Given the description of an element on the screen output the (x, y) to click on. 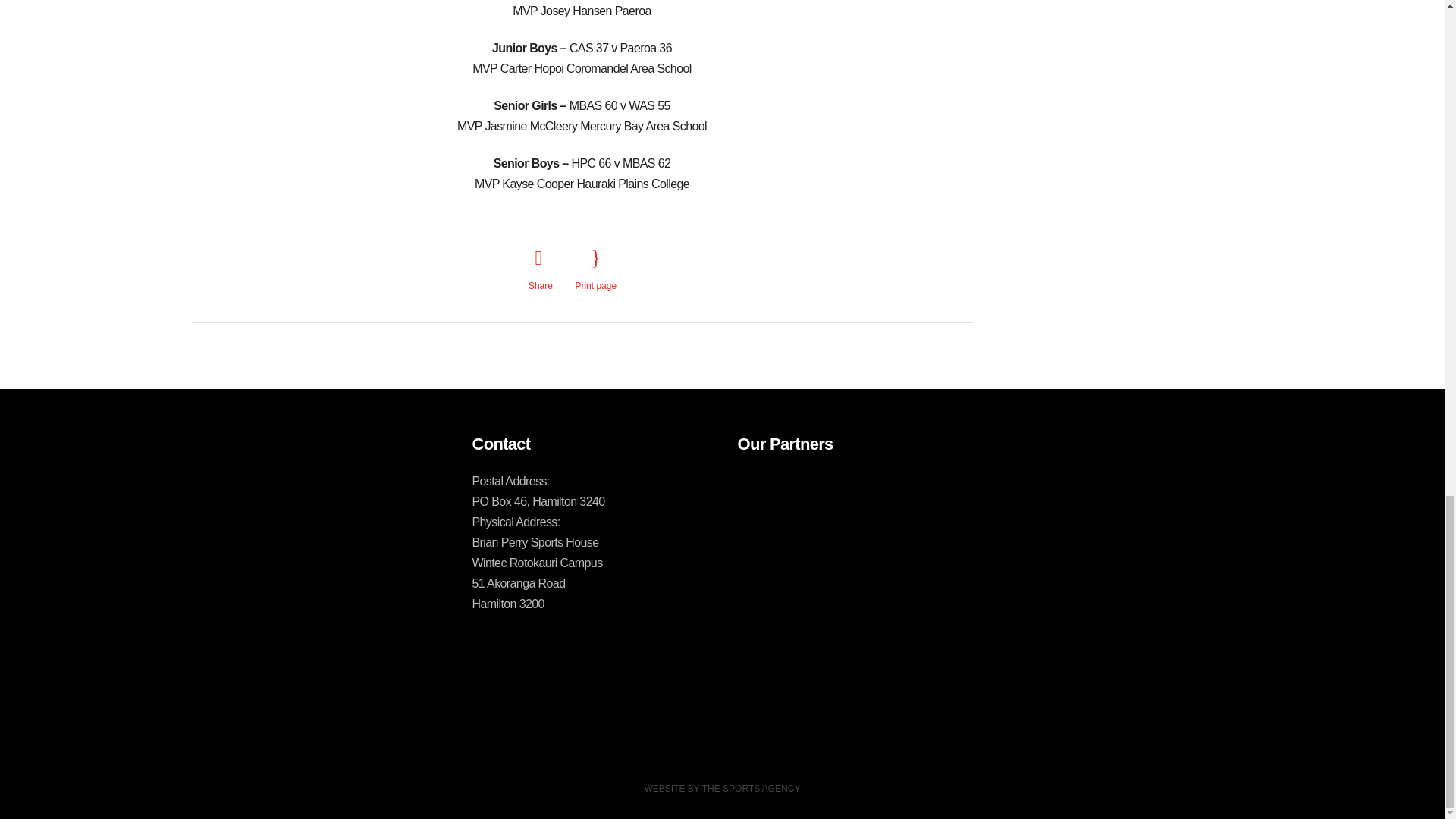
Our Partners (812, 501)
